Given the description of an element on the screen output the (x, y) to click on. 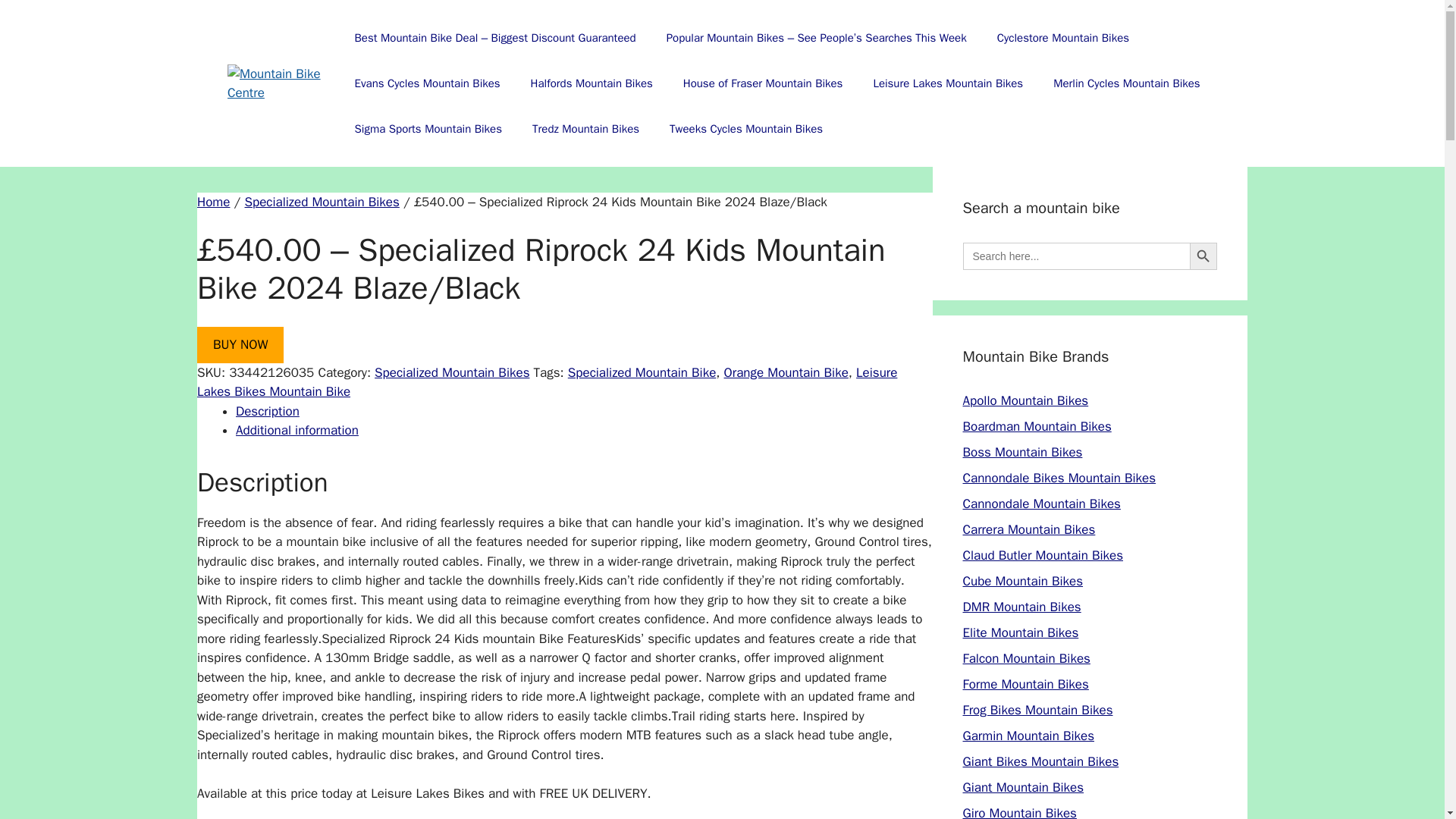
Leisure Lakes Bikes Mountain Bikes (947, 83)
Sigma Sports Mountain Bikes (427, 128)
Tweeks Cycles Mountain Bikes (745, 128)
Additional information (296, 430)
Orange Mountain Bike (785, 372)
Leisure Lakes Bikes Mountain Bike (546, 382)
BUY NOW (239, 344)
Specialized Mountain Bikes (451, 372)
Leisure Lakes Mountain Bikes (947, 83)
House of Fraser Mountain Bikes (763, 83)
